Given the description of an element on the screen output the (x, y) to click on. 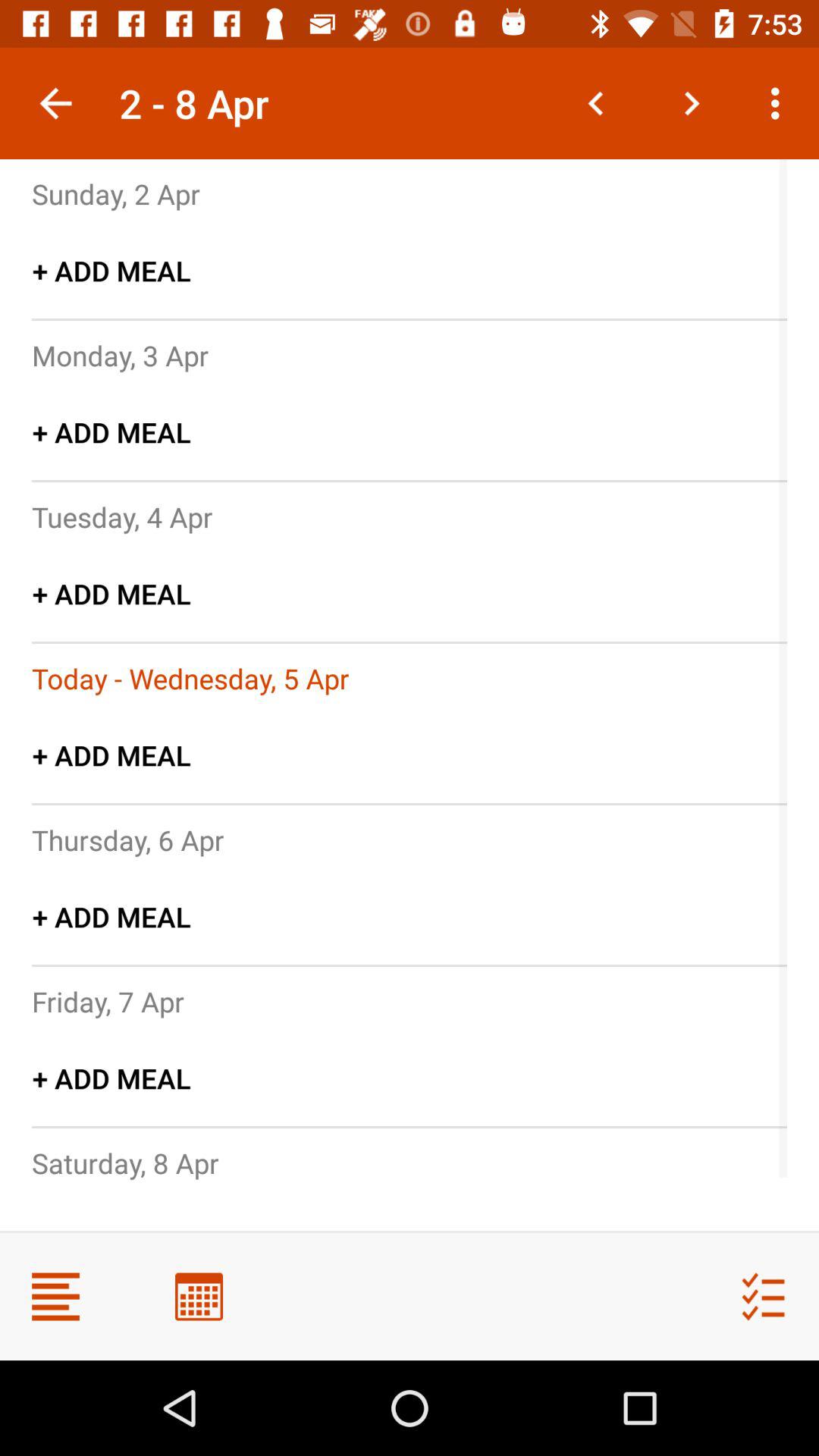
turn on icon below + add meal item (190, 678)
